Given the description of an element on the screen output the (x, y) to click on. 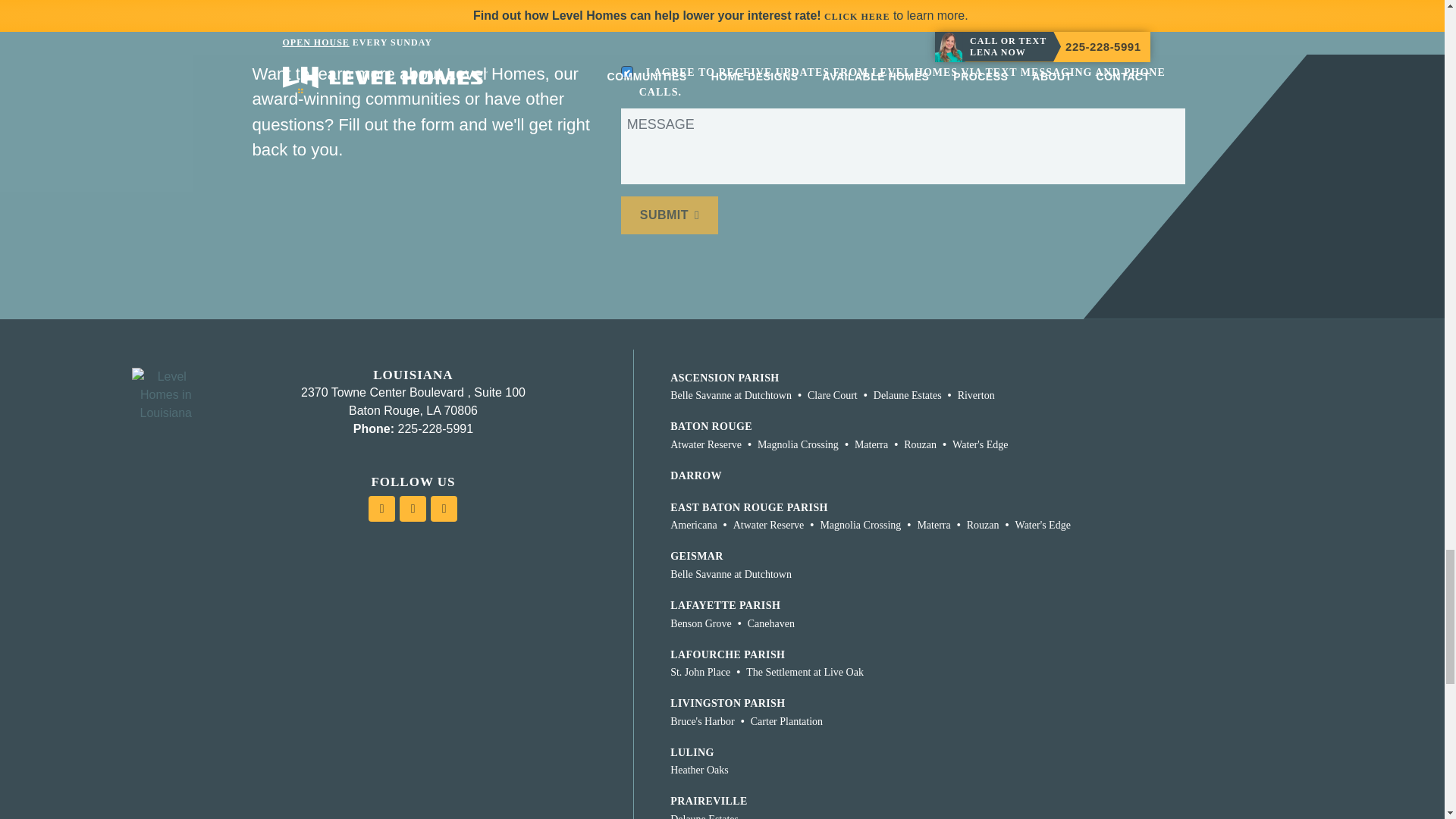
Instagram (381, 508)
LinkedIn (443, 508)
Facebook (412, 508)
